Given the description of an element on the screen output the (x, y) to click on. 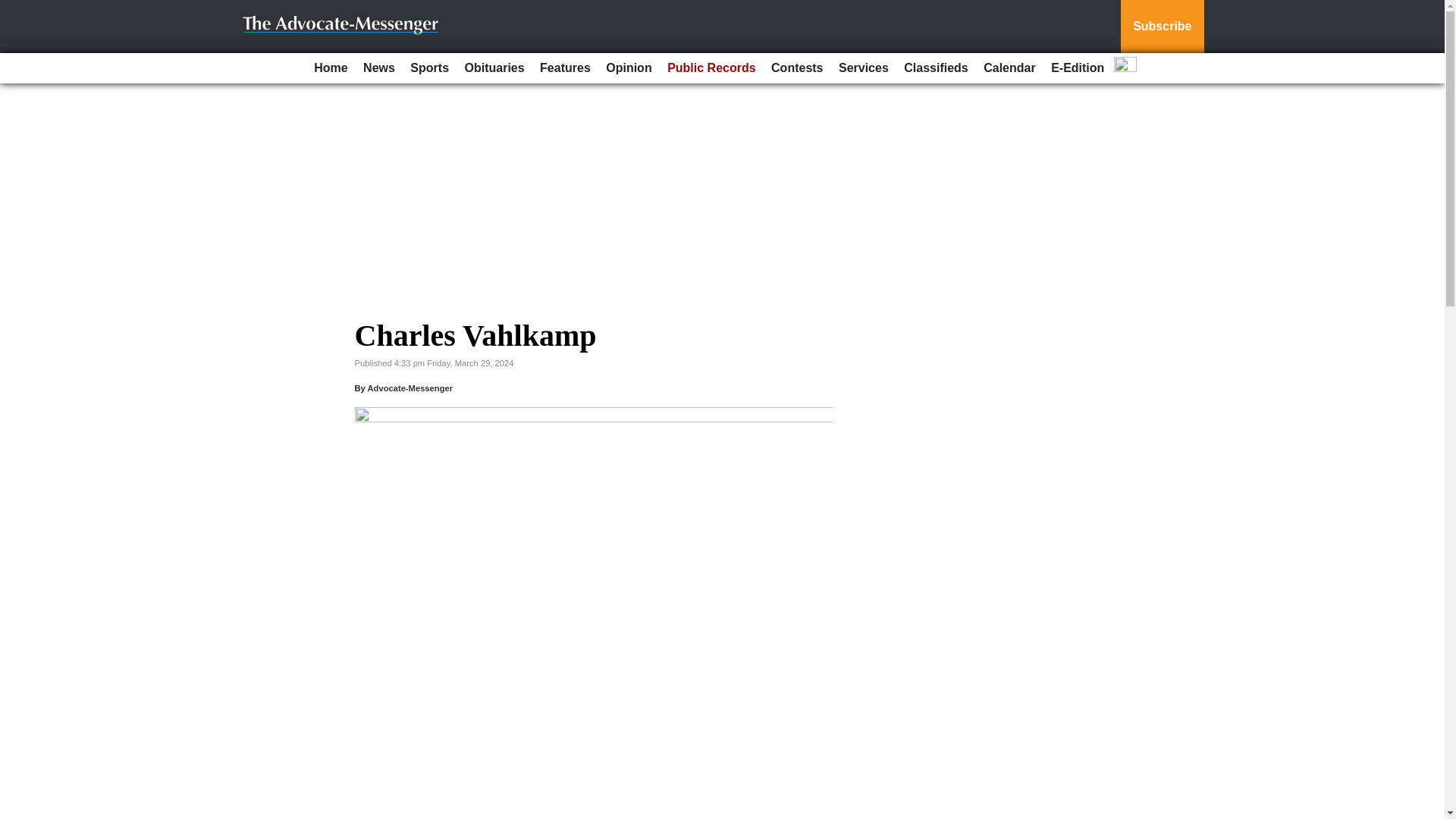
Classifieds (936, 68)
Features (565, 68)
Opinion (628, 68)
Subscribe (1162, 26)
Services (863, 68)
Contests (796, 68)
Obituaries (493, 68)
News (378, 68)
Public Records (711, 68)
E-Edition (1077, 68)
